Given the description of an element on the screen output the (x, y) to click on. 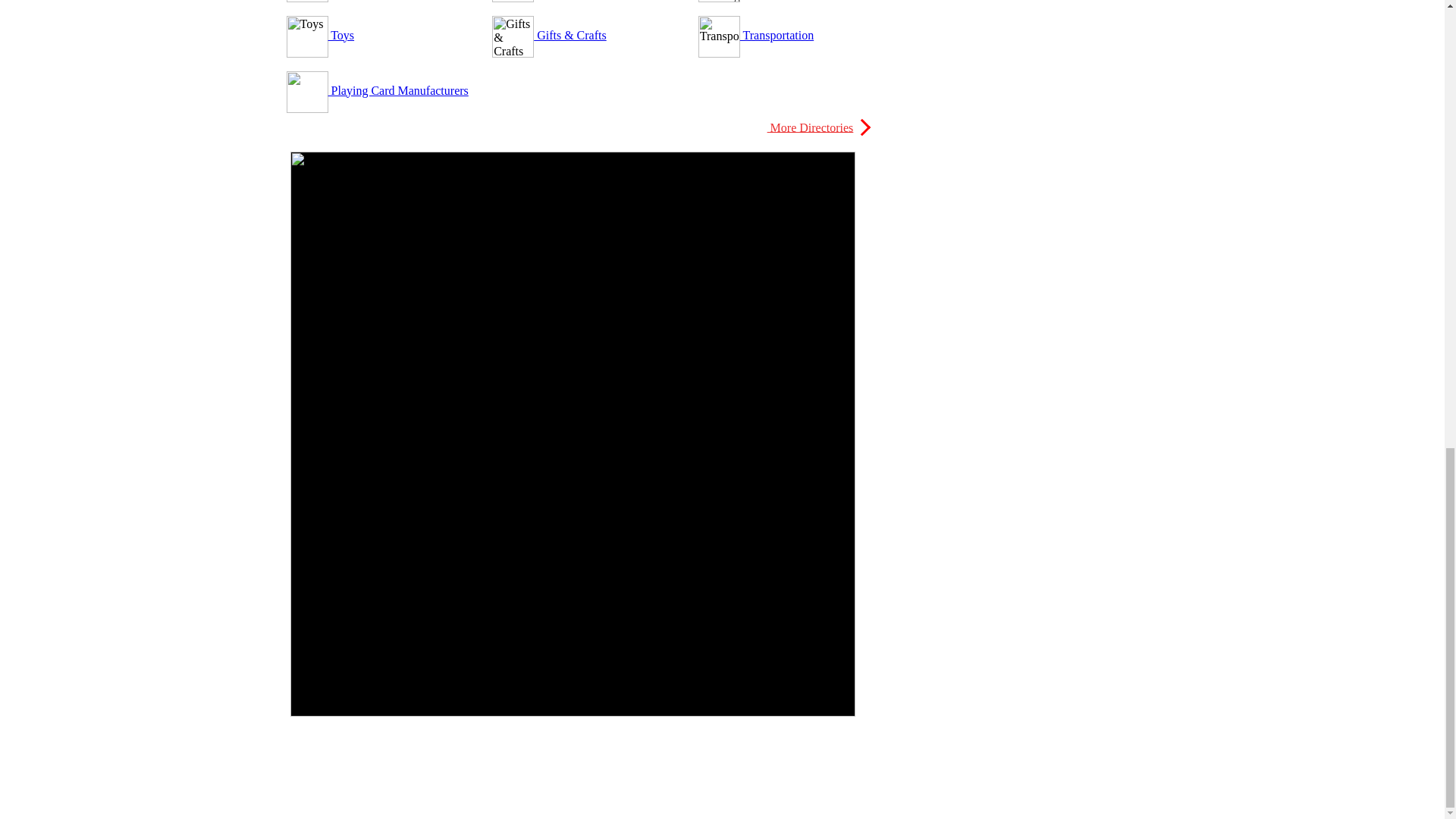
Playing Card Manufacturers (397, 90)
Toys (340, 34)
